Given the description of an element on the screen output the (x, y) to click on. 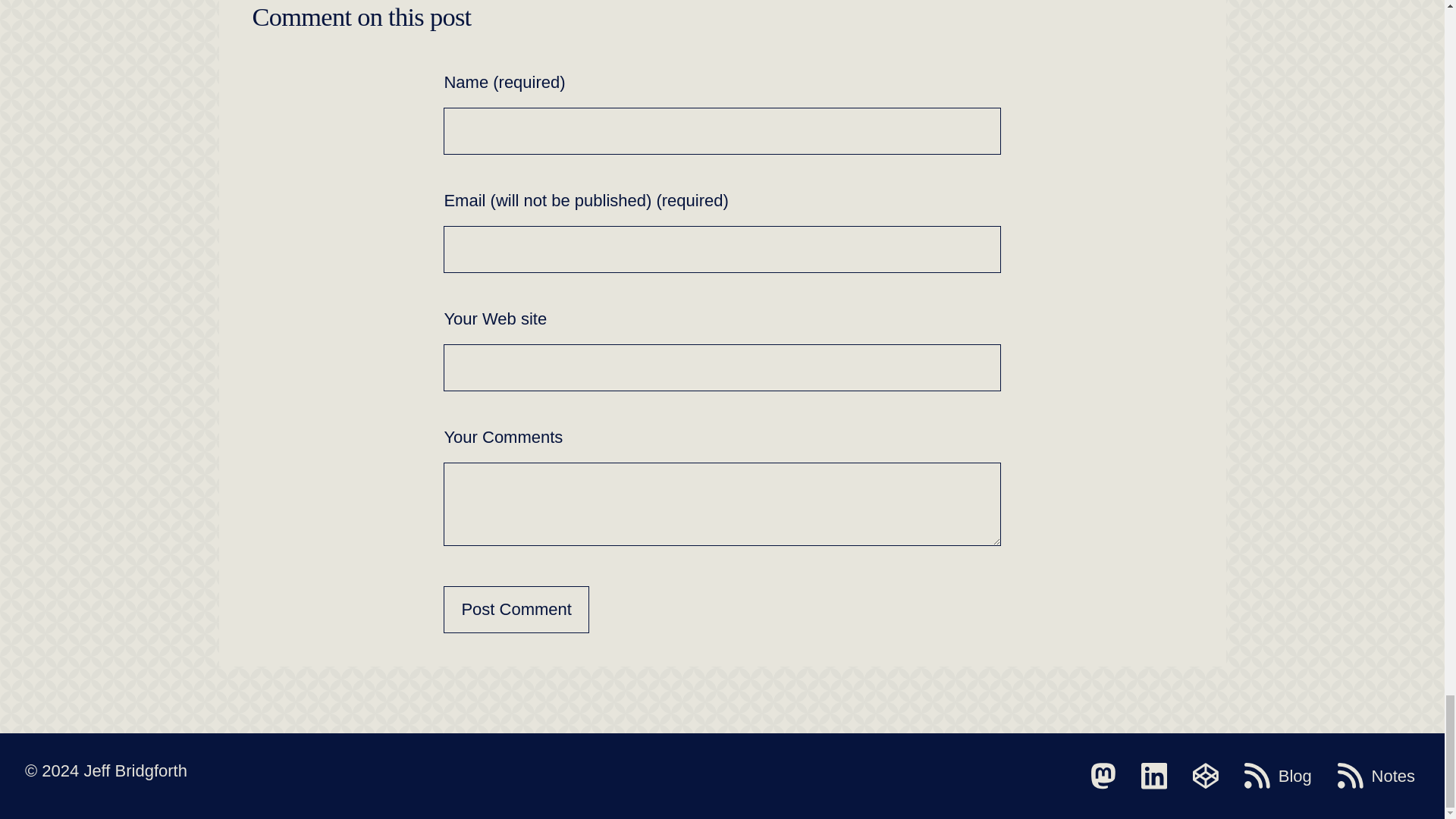
Post Comment (516, 609)
